Given the description of an element on the screen output the (x, y) to click on. 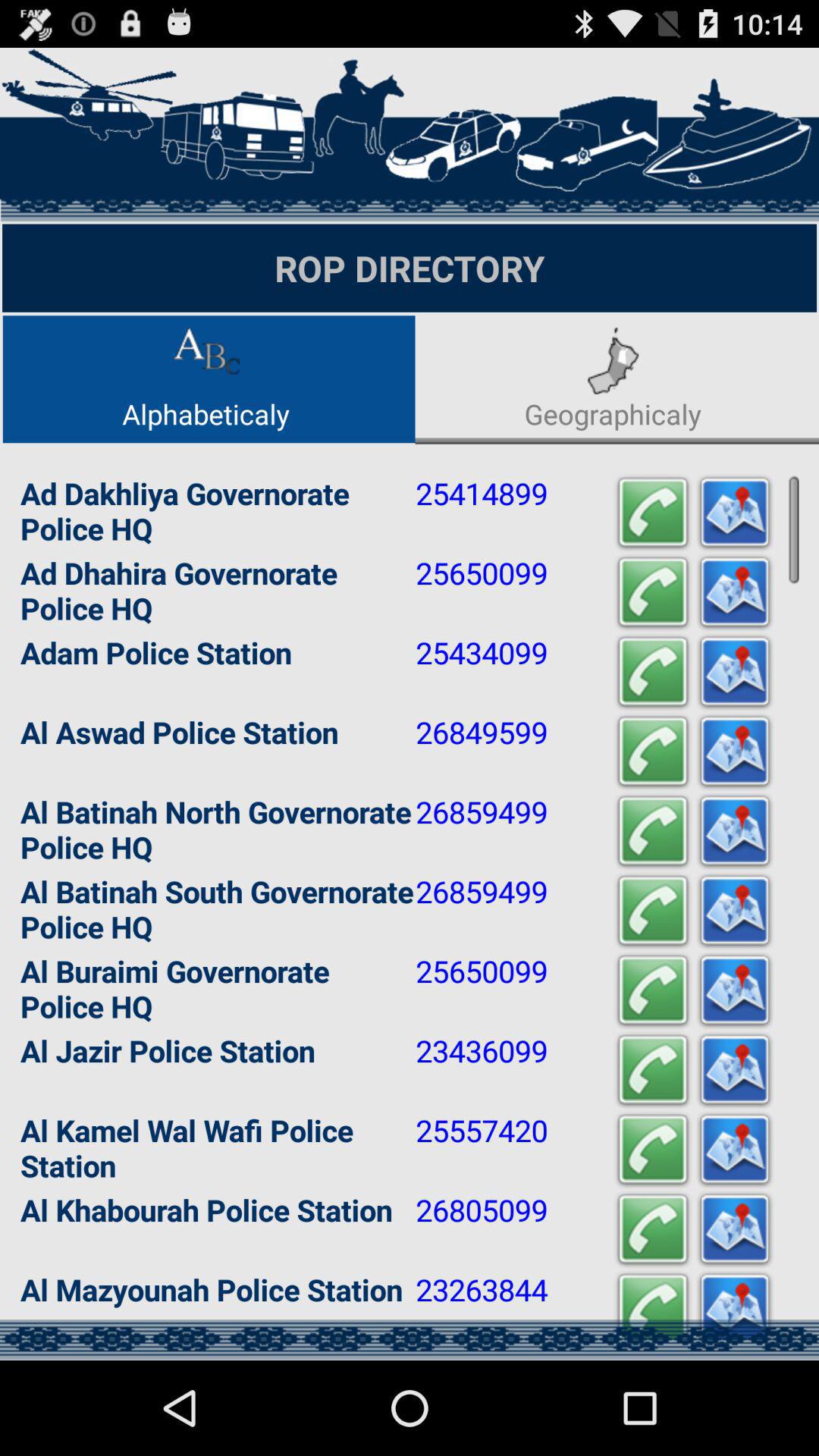
shows location in map (734, 1070)
